Given the description of an element on the screen output the (x, y) to click on. 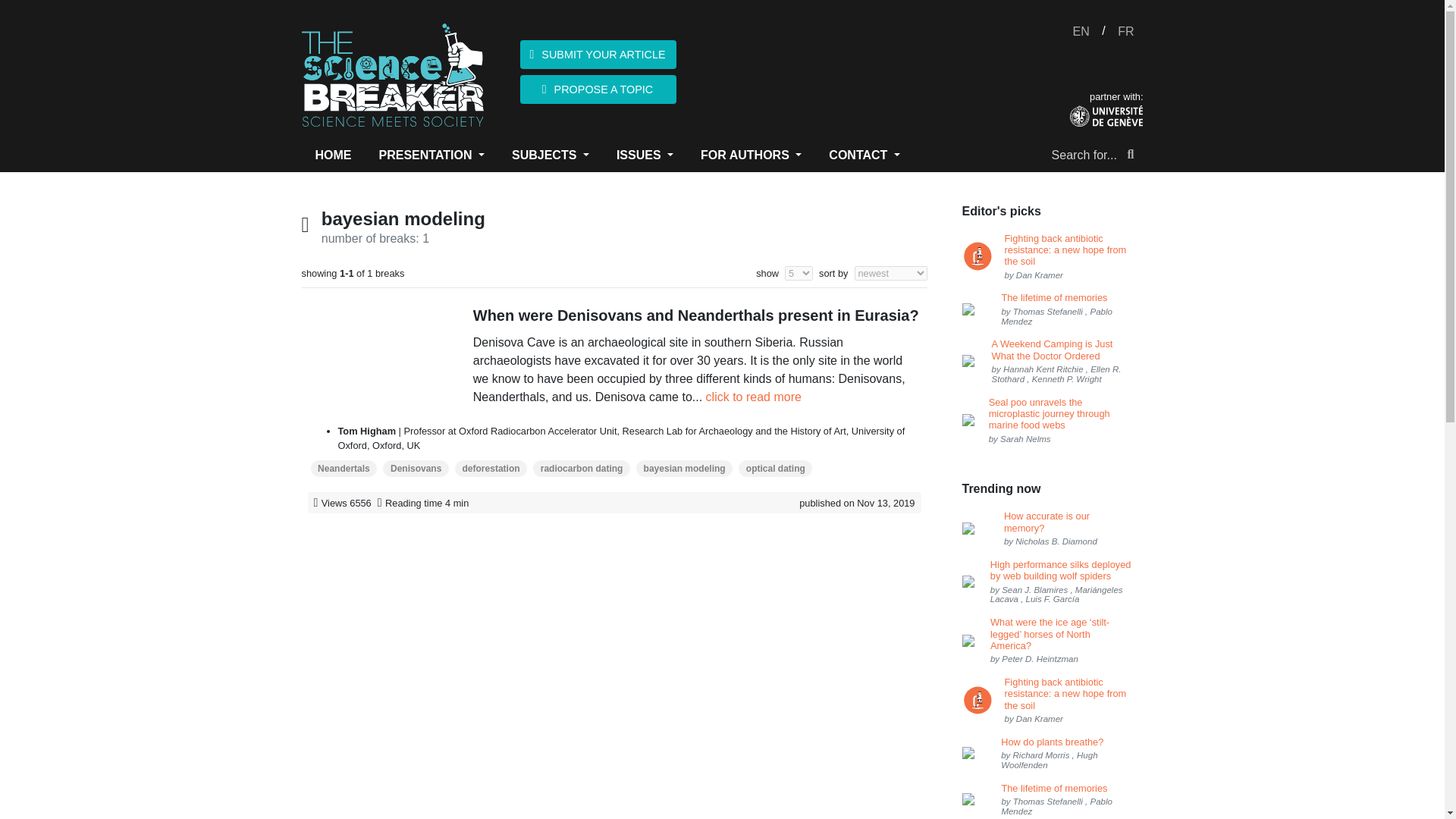
SUBMIT YOUR ARTICLE (598, 54)
ISSUES (644, 155)
FOR AUTHORS (751, 155)
CONTACT (863, 155)
PROPOSE A TOPIC (598, 89)
When were Denisovans and Neanderthals present in Eurasia? (697, 315)
FR (1125, 31)
SUBJECTS (550, 155)
PRESENTATION (432, 155)
EN (1081, 31)
HOME (333, 155)
